Given the description of an element on the screen output the (x, y) to click on. 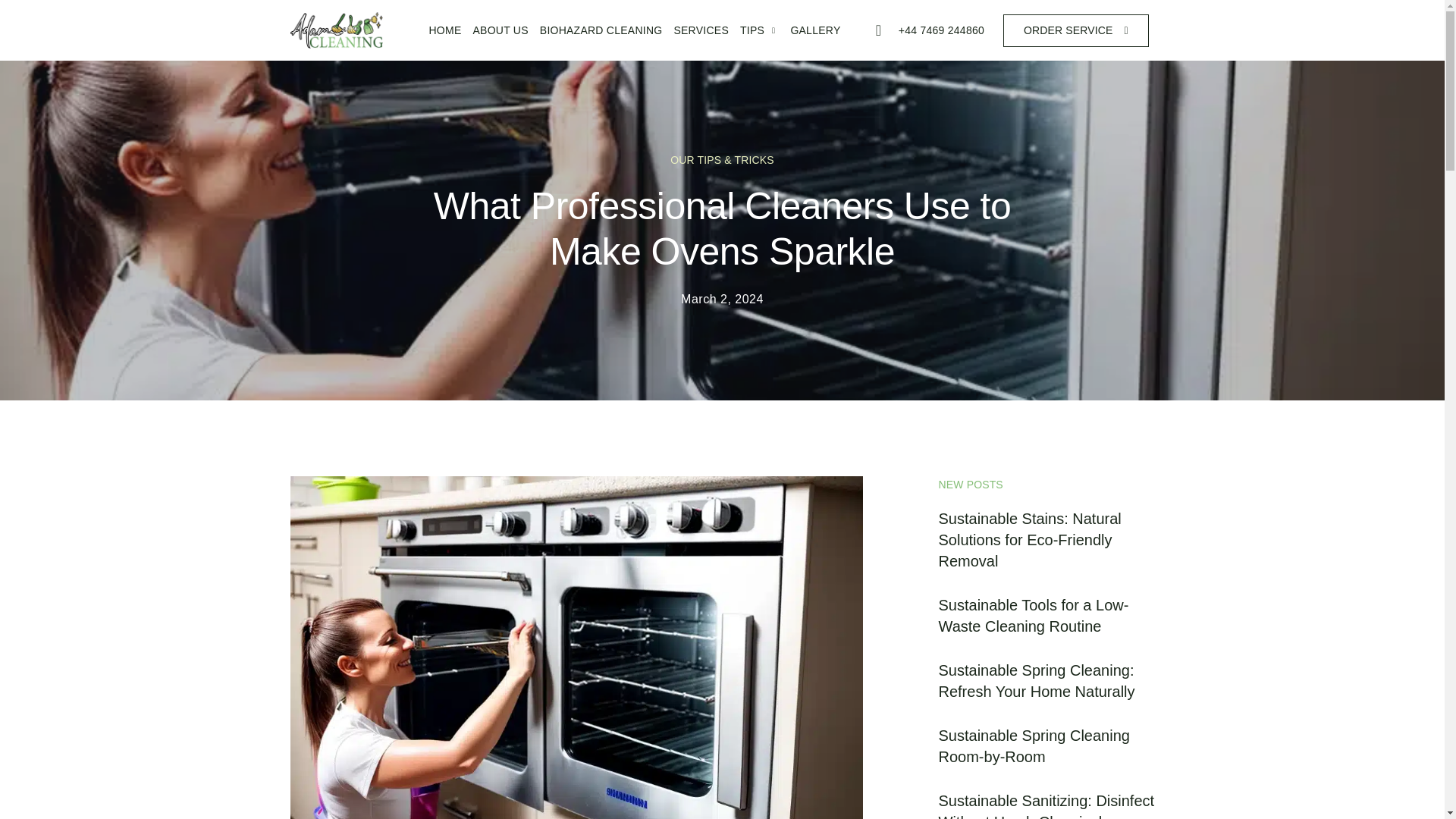
ORDER SERVICE (1075, 29)
GALLERY (809, 30)
SERVICES (695, 29)
ABOUT US (494, 29)
BIOHAZARD CLEANING (595, 29)
